Given the description of an element on the screen output the (x, y) to click on. 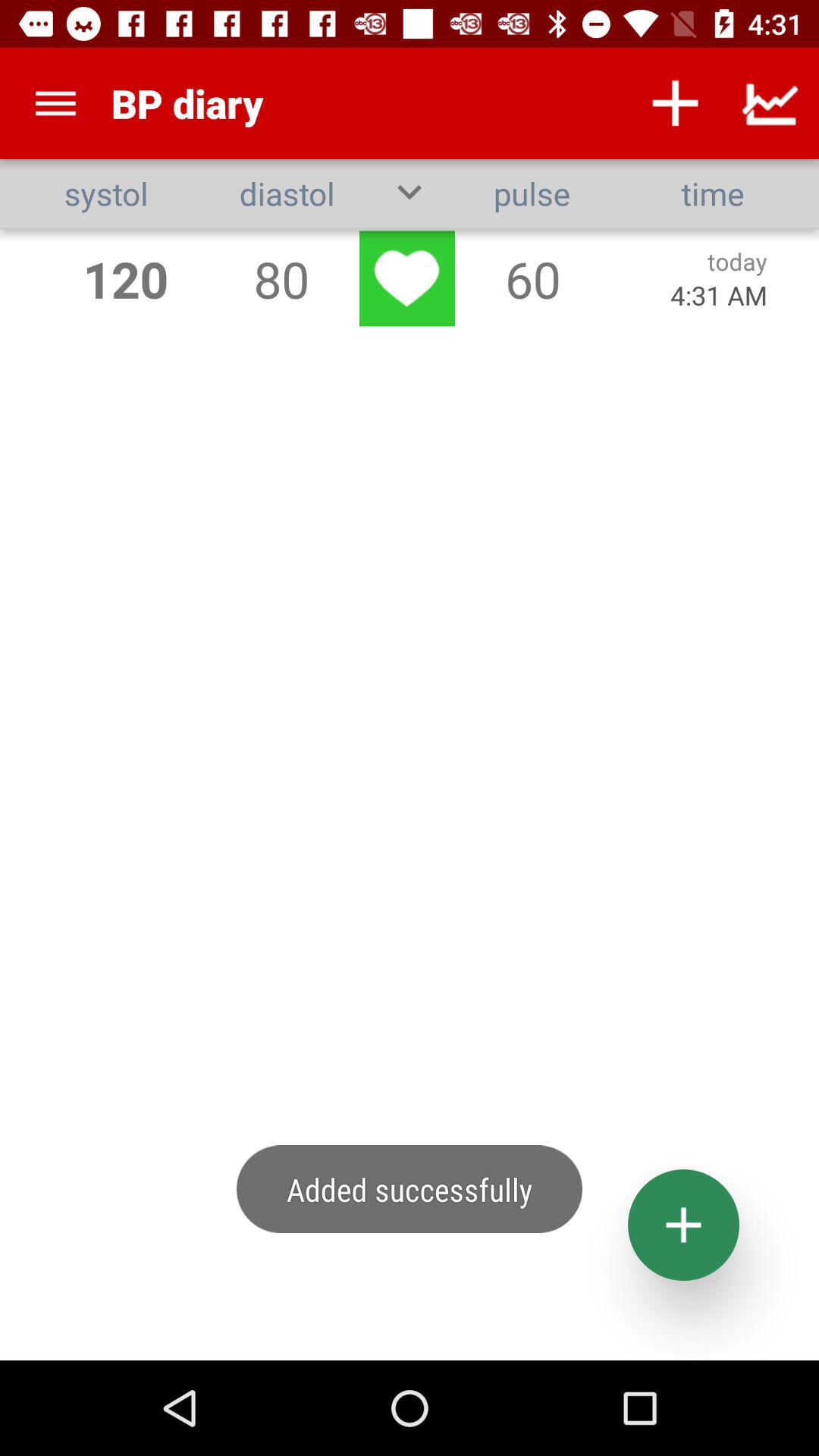
turn off 80 item (281, 278)
